Given the description of an element on the screen output the (x, y) to click on. 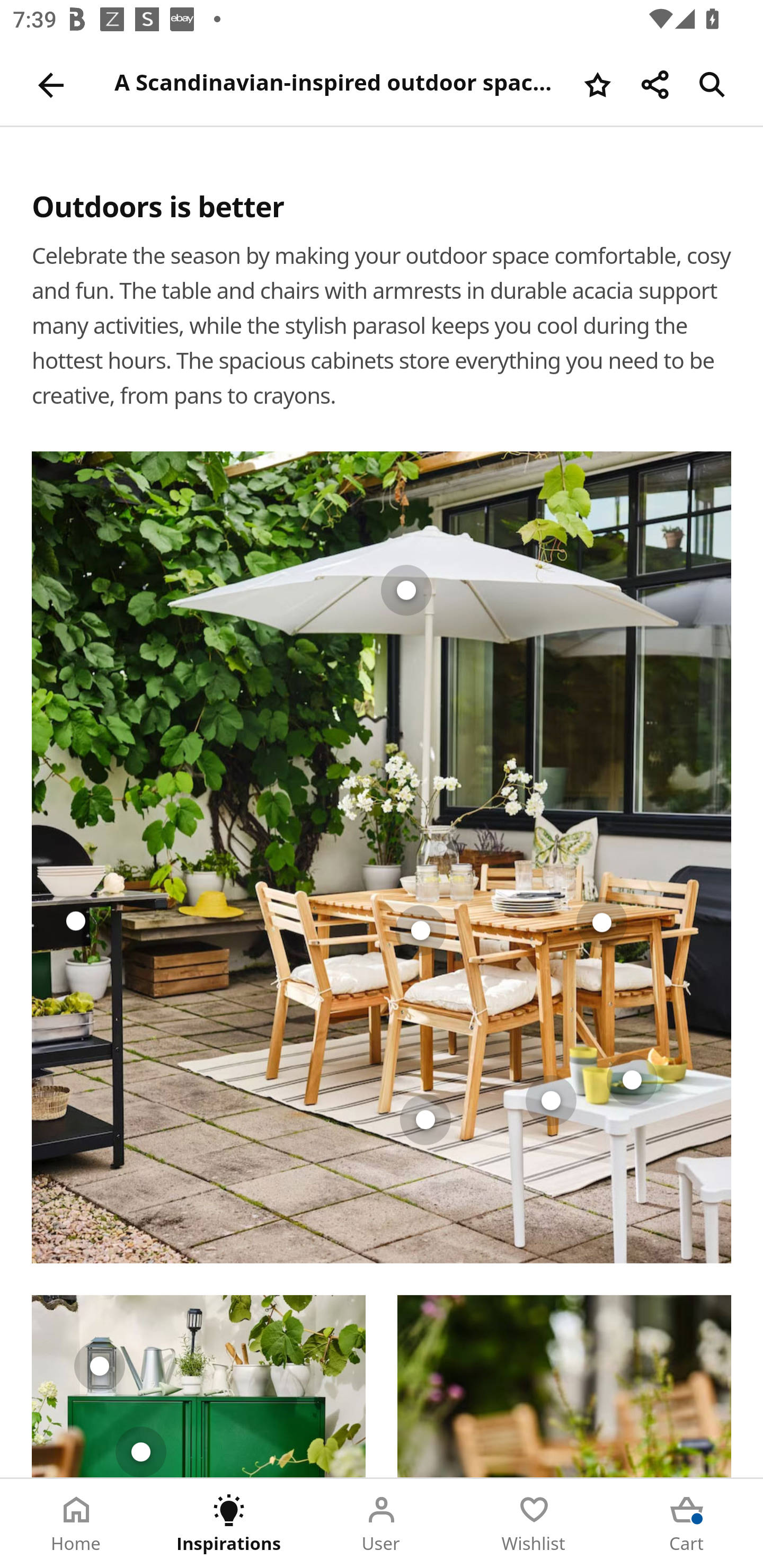
Home
Tab 1 of 5 (76, 1522)
Inspirations
Tab 2 of 5 (228, 1522)
User
Tab 3 of 5 (381, 1522)
Wishlist
Tab 4 of 5 (533, 1522)
Cart
Tab 5 of 5 (686, 1522)
